Given the description of an element on the screen output the (x, y) to click on. 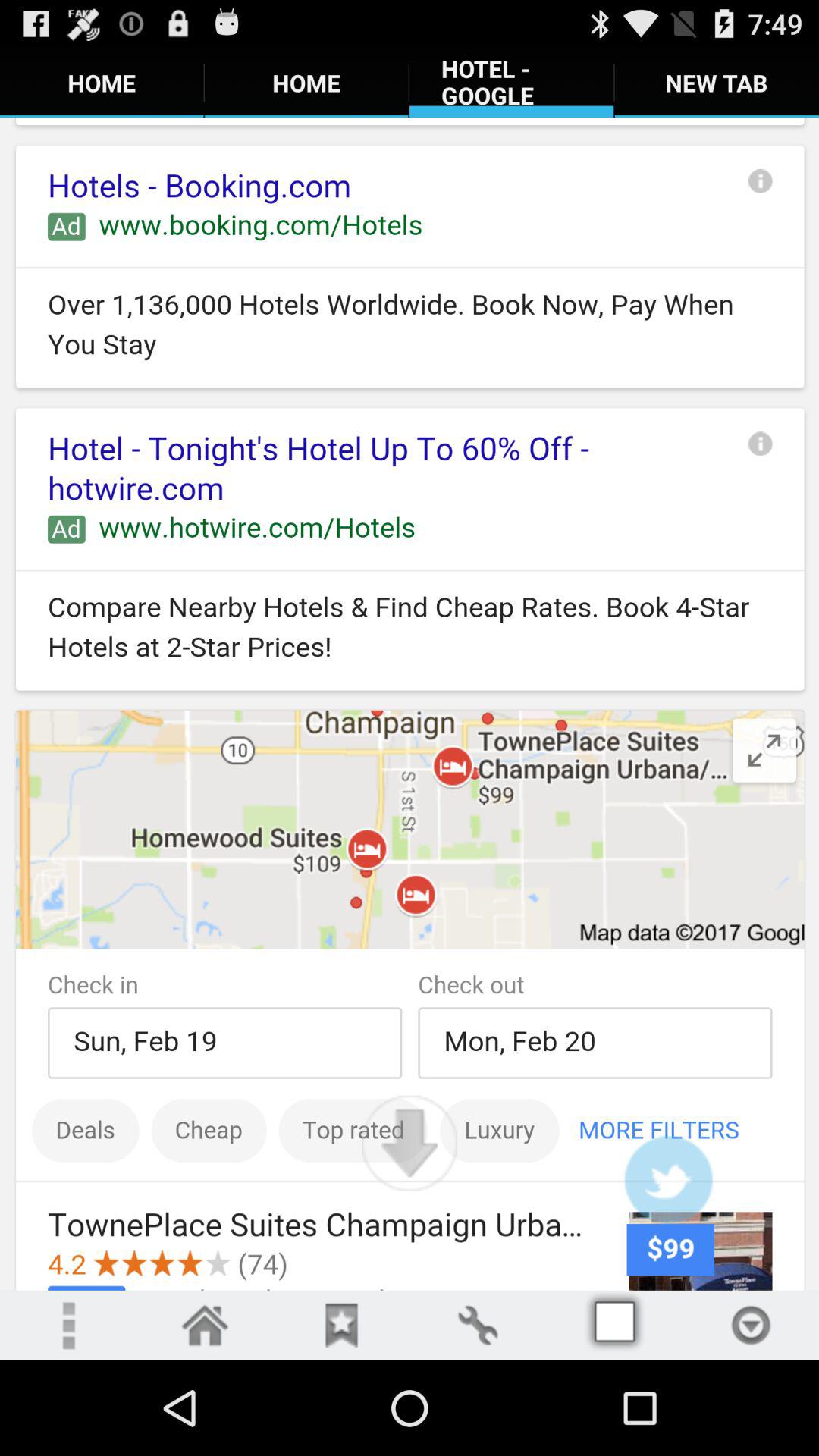
added to favourites (341, 1325)
